Given the description of an element on the screen output the (x, y) to click on. 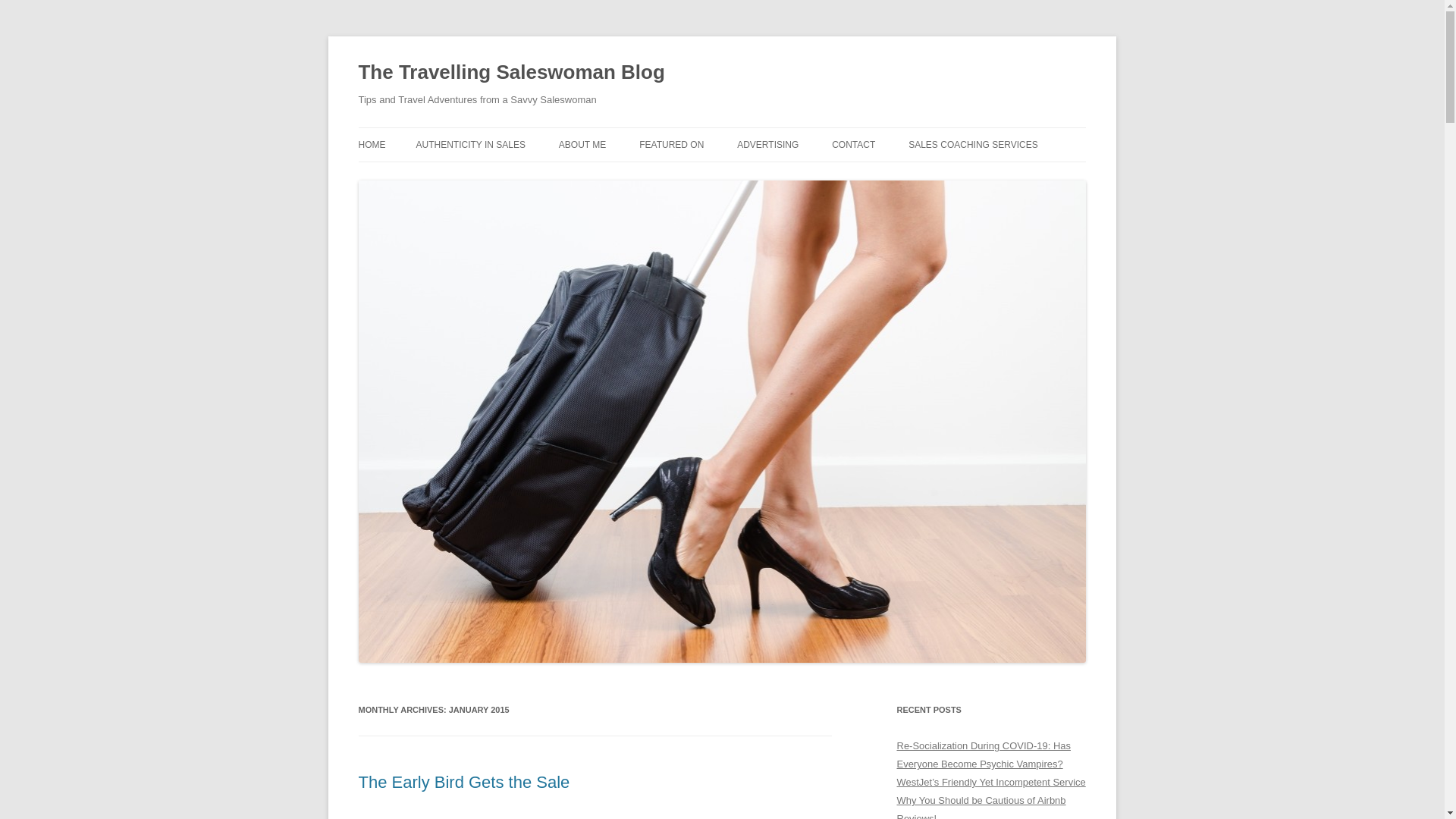
FEATURED ON (671, 144)
HOME (371, 144)
The Travelling Saleswoman Blog (510, 72)
The Early Bird Gets the Sale (463, 782)
CONTACT (853, 144)
ADVERTISING (766, 144)
SALES COACHING SERVICES (973, 144)
AUTHENTICITY IN SALES (469, 144)
ABOUT ME (582, 144)
